Given the description of an element on the screen output the (x, y) to click on. 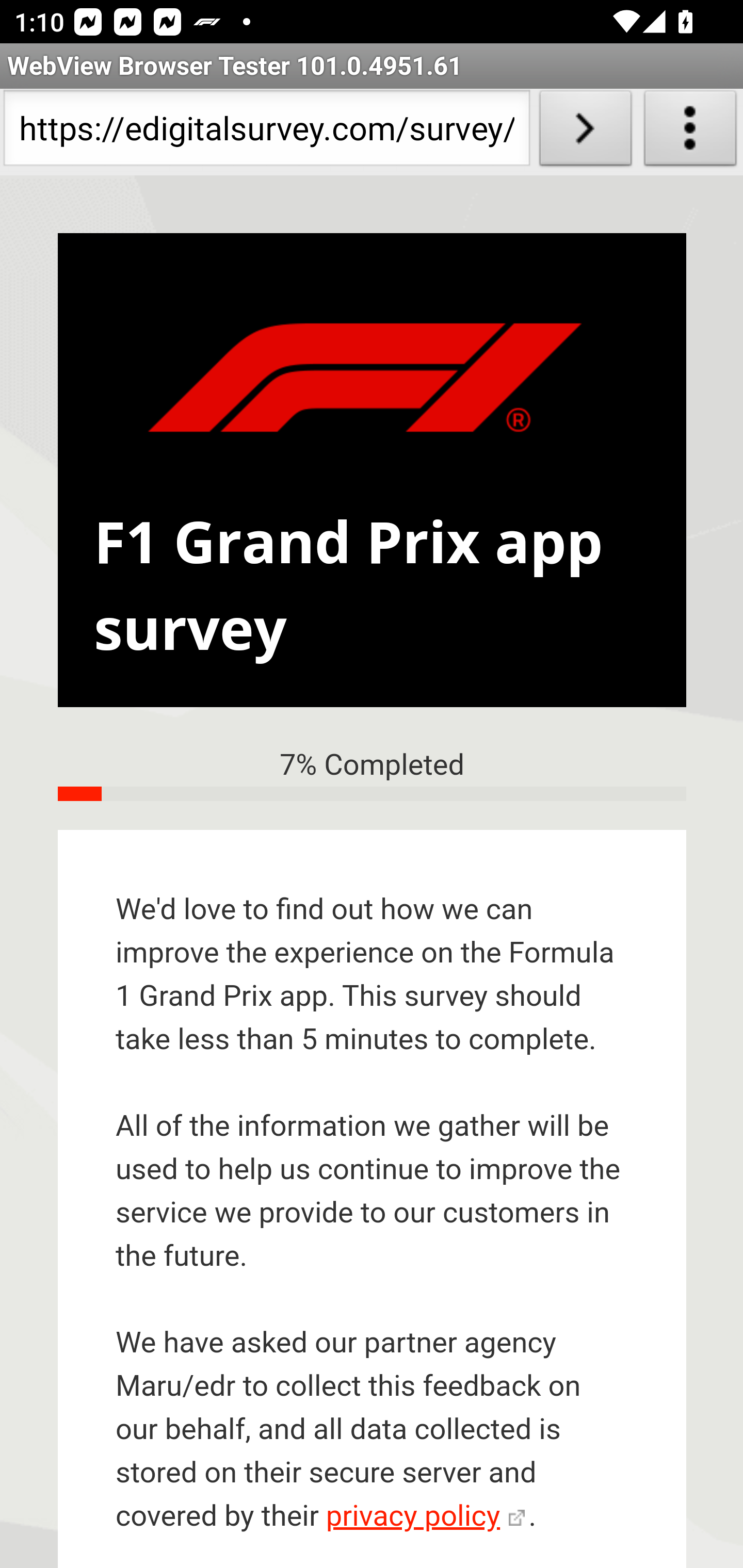
Load URL (585, 132)
About WebView (690, 132)
privacy policy  privacy policy    (425, 1517)
